Given the description of an element on the screen output the (x, y) to click on. 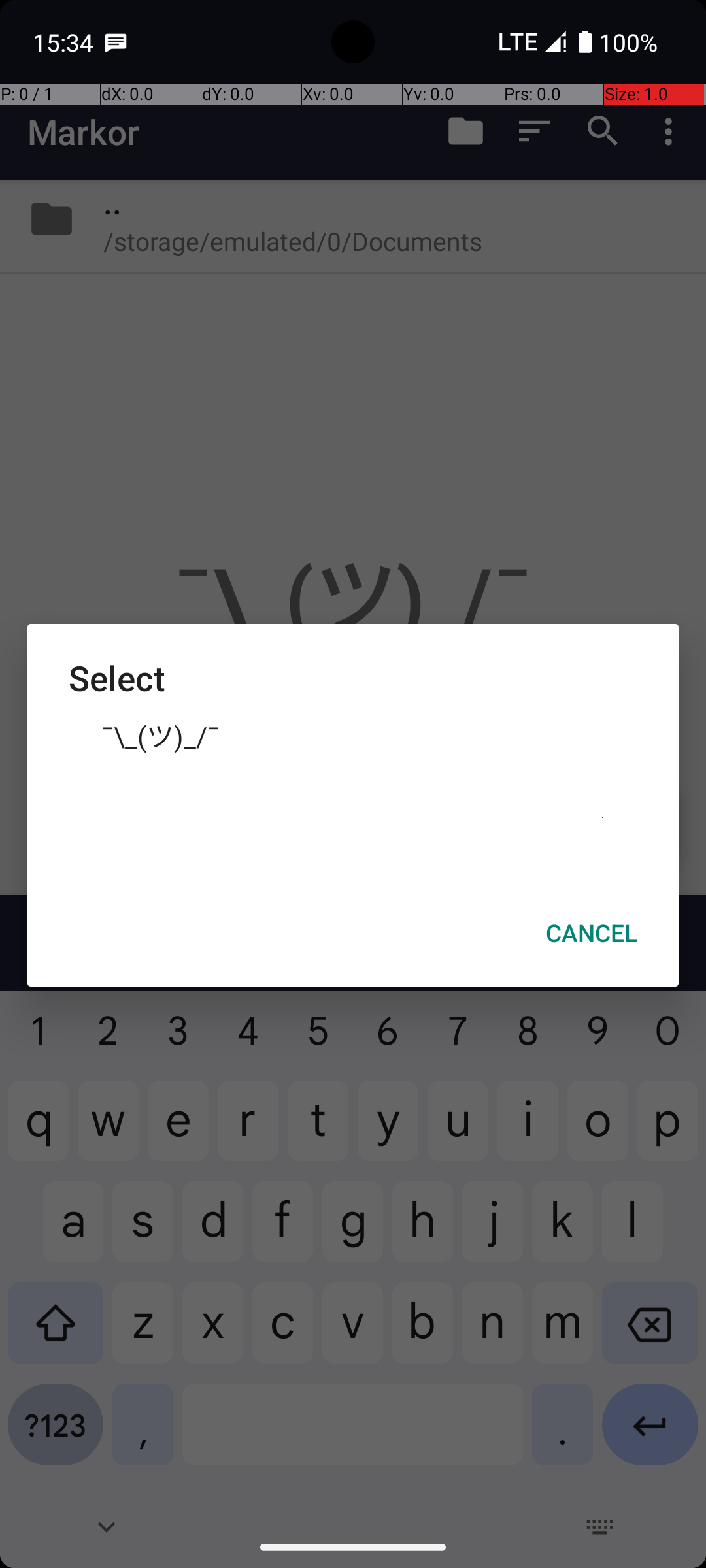
Select Element type: android.widget.TextView (352, 677)
     ¯\_(ツ)_/¯      Element type: android.widget.TextView (352, 734)
